Given the description of an element on the screen output the (x, y) to click on. 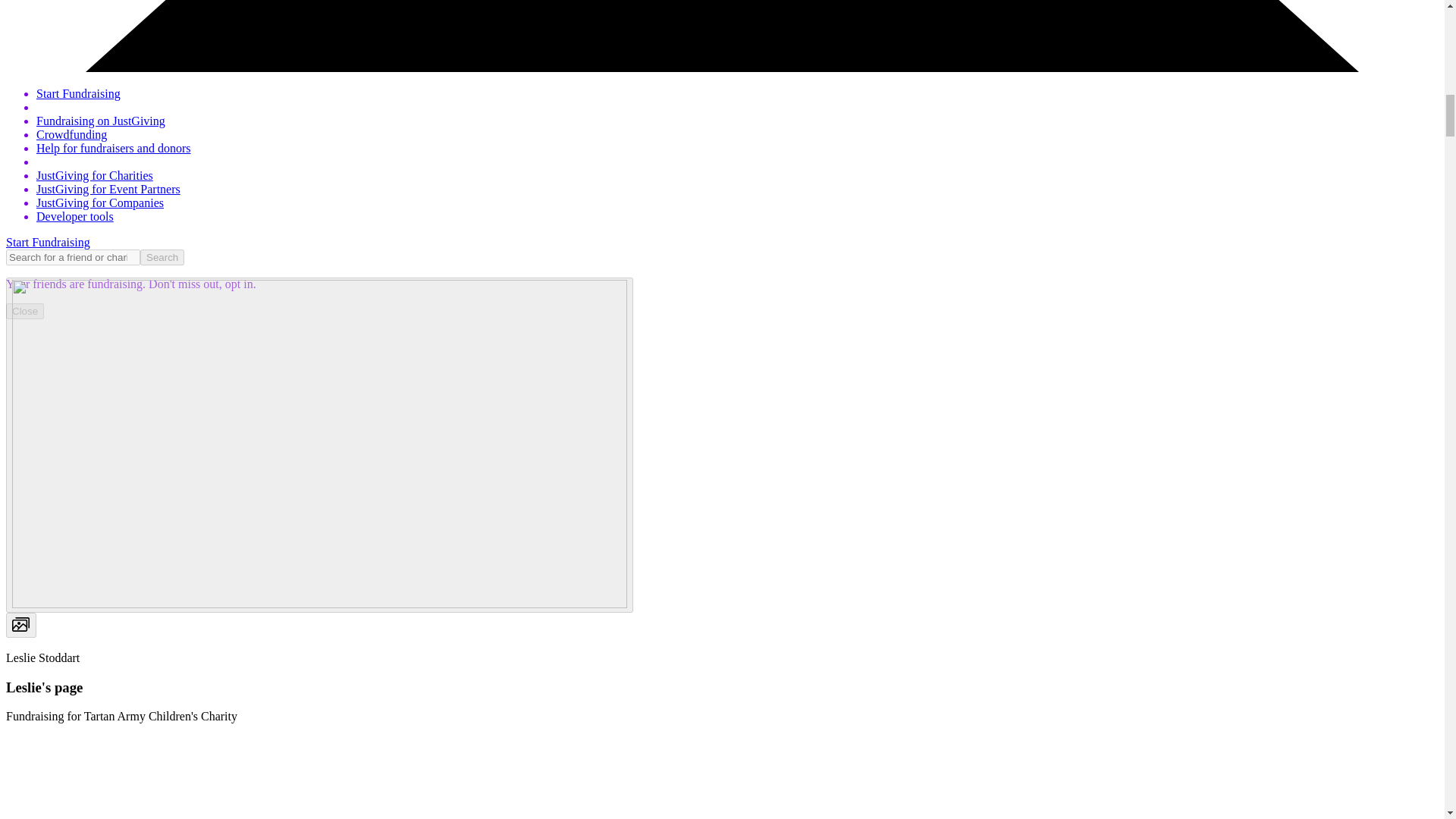
Help for fundraisers and donors (113, 147)
Search (161, 257)
Search (161, 257)
Developer tools (74, 215)
JustGiving for Charities (94, 174)
Close (24, 311)
Crowdfunding (71, 133)
JustGiving for Event Partners (108, 188)
opt in. (239, 283)
JustGiving for Companies (99, 202)
Fundraising on JustGiving (100, 120)
Start Fundraising (47, 241)
Start Fundraising (78, 92)
Search (161, 257)
